Given the description of an element on the screen output the (x, y) to click on. 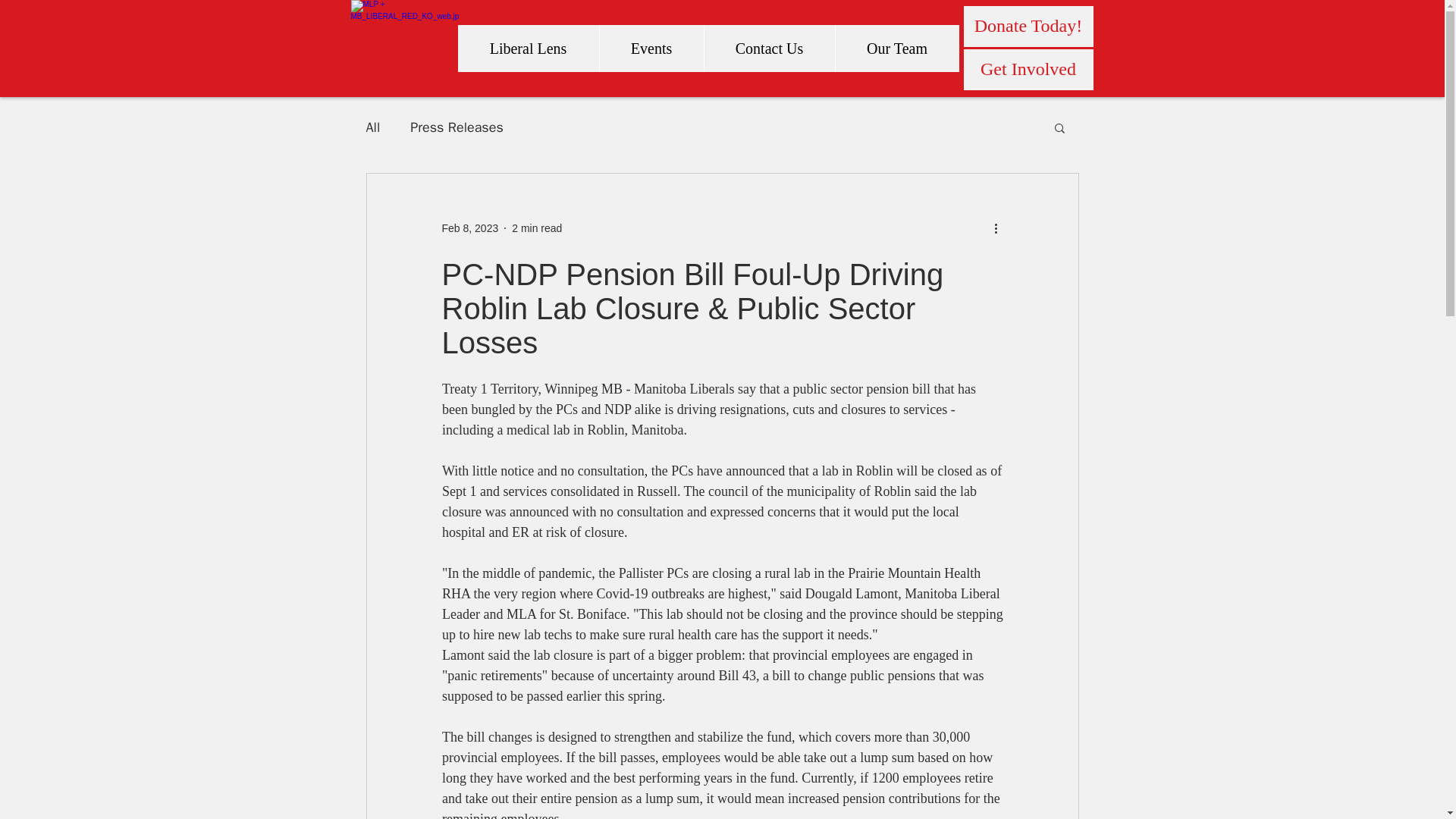
Liberal Lens (528, 48)
2 min read (537, 227)
Events (650, 48)
Feb 8, 2023 (469, 227)
Donate Today! (1027, 25)
Contact Us (768, 48)
Homepage (404, 48)
Our Team (896, 48)
Press Releases (456, 126)
Get Involved (1027, 69)
